Given the description of an element on the screen output the (x, y) to click on. 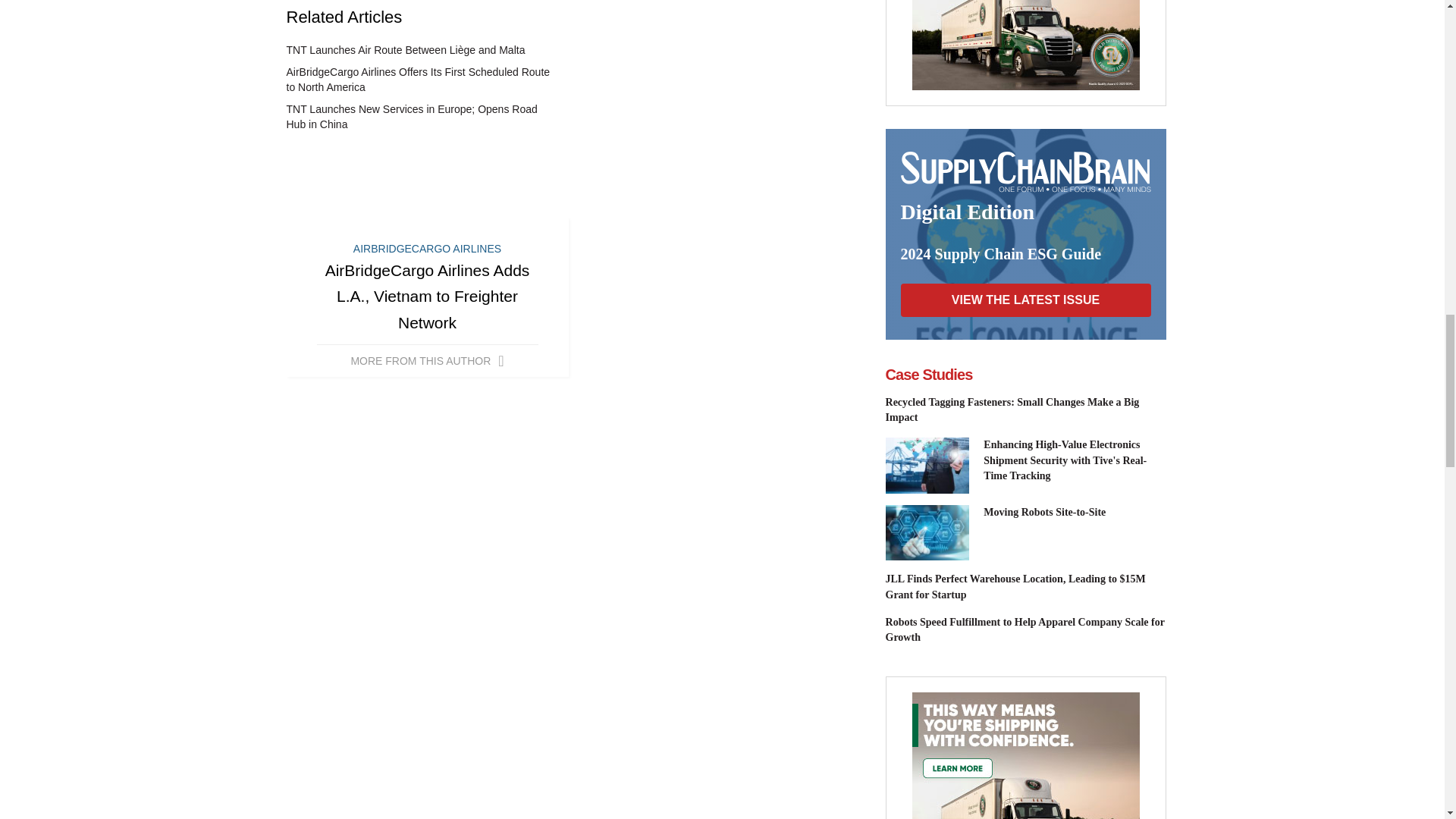
Old Dominion (1024, 45)
P65 TIVE.jpg (927, 465)
Old Dominion (1024, 755)
P66 EXOTEC.jpg (927, 533)
